Given the description of an element on the screen output the (x, y) to click on. 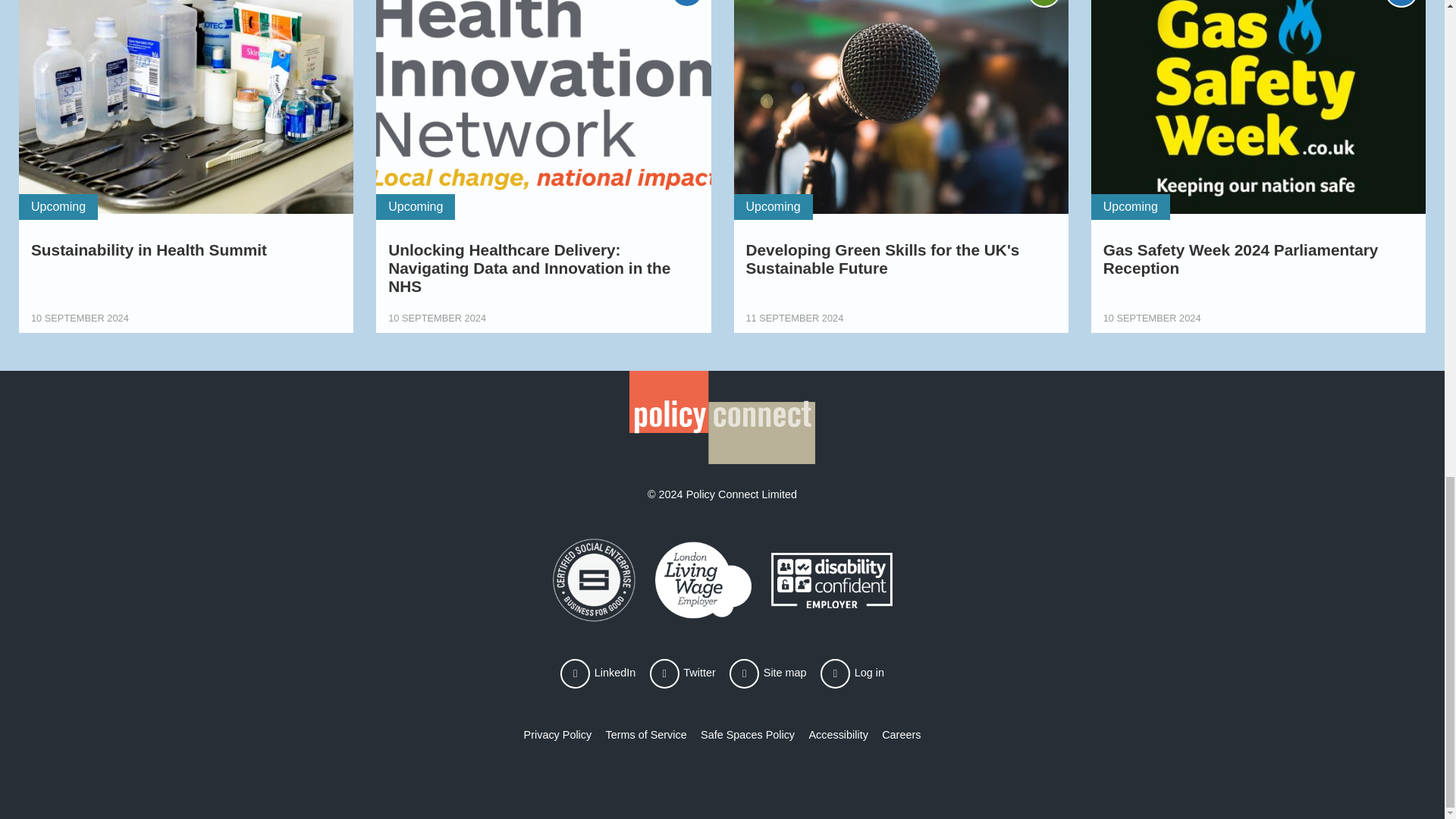
Living wage employer (702, 579)
LinkedIn (597, 672)
Twitter (682, 672)
Site map (767, 672)
Living wage employer (592, 579)
Disability confident (830, 579)
